Given the description of an element on the screen output the (x, y) to click on. 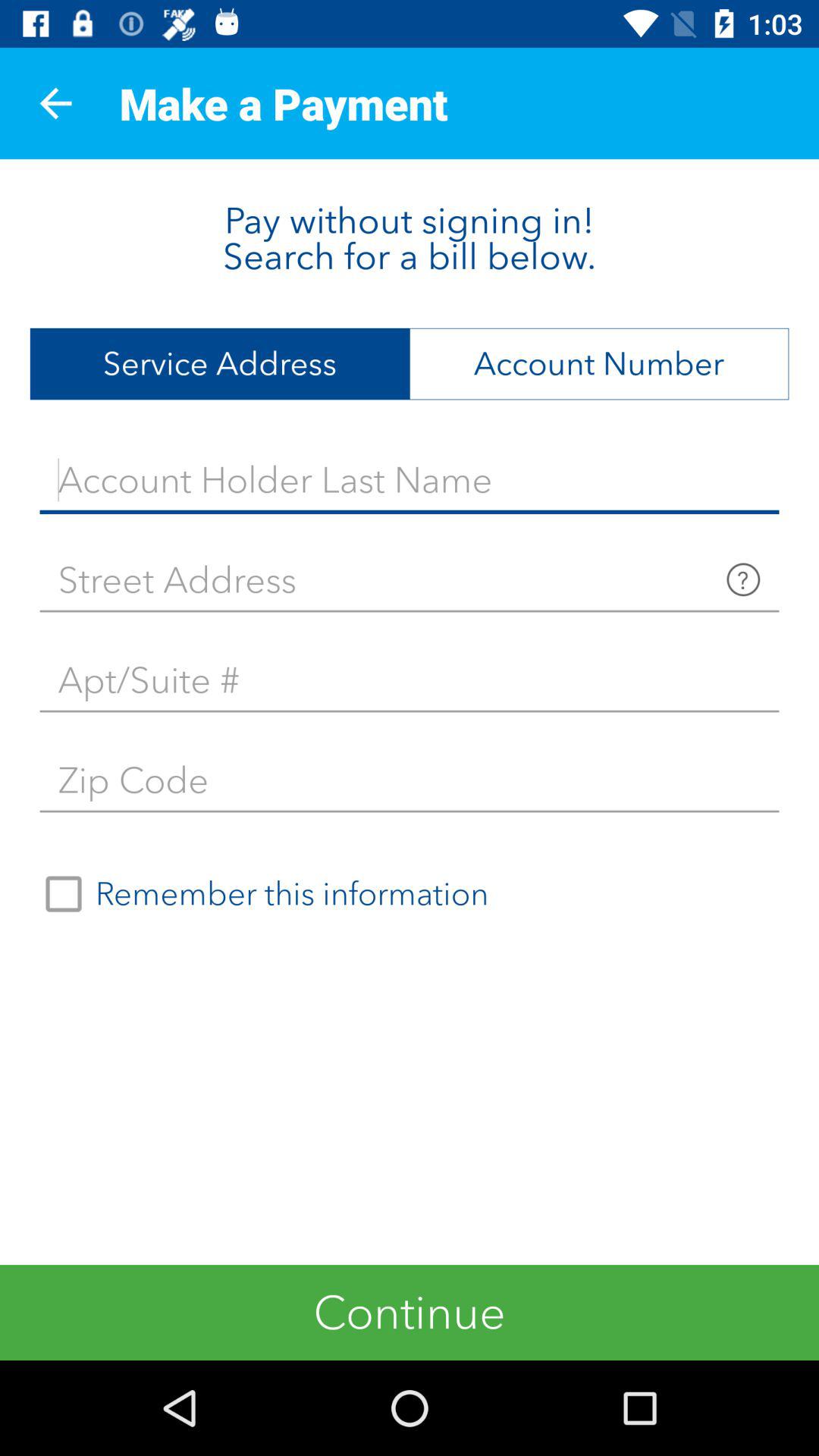
press app next to make a payment (55, 103)
